Given the description of an element on the screen output the (x, y) to click on. 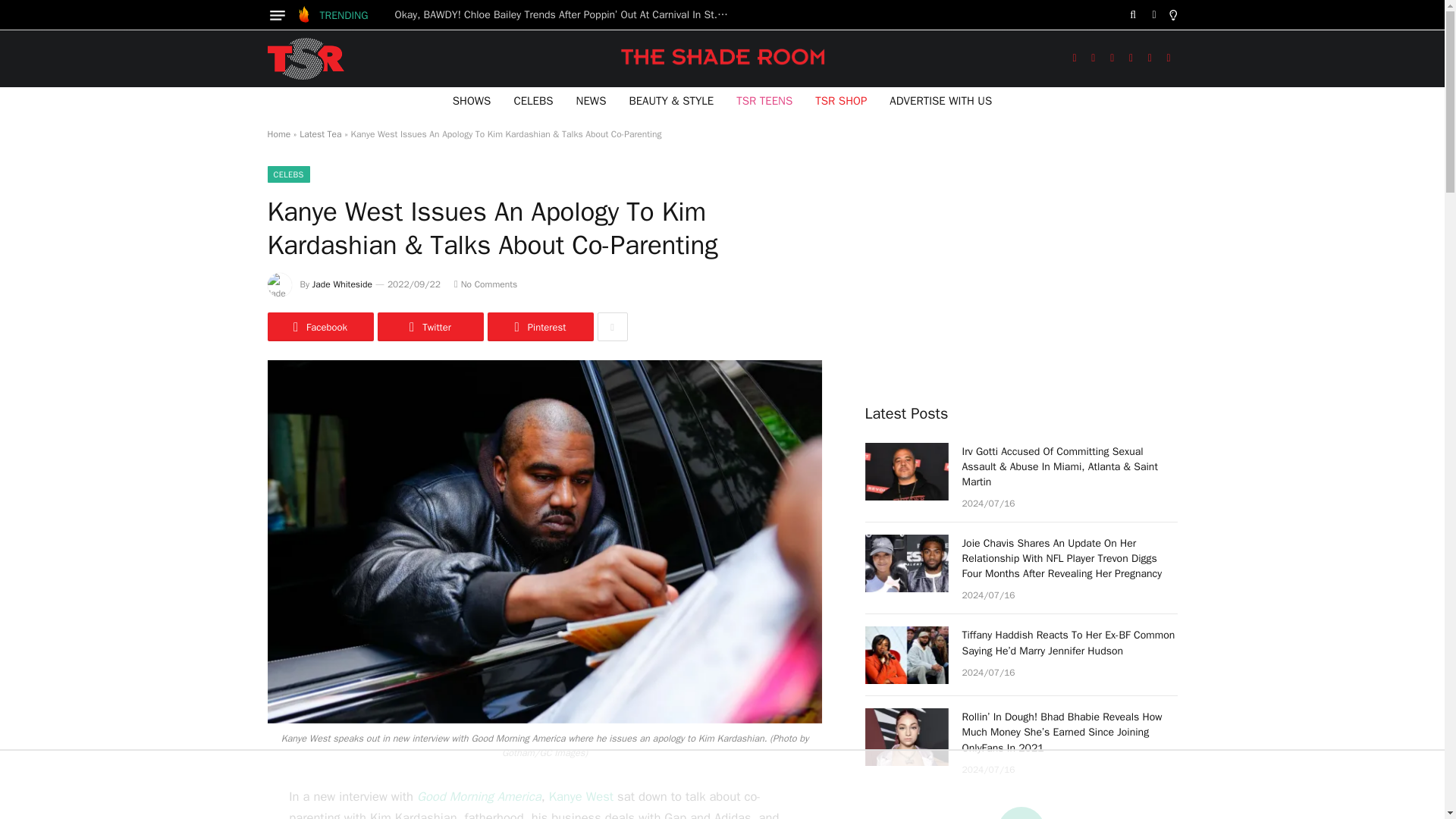
Switch to Dark Design - easier on eyes. (1153, 14)
Instagram (1112, 58)
Share on Pinterest (539, 326)
Posts by Jade Whiteside (342, 284)
Show More Social Sharing (611, 326)
The Shade Room (304, 58)
Snapchat (1168, 58)
TikTok (1149, 58)
Search (1132, 14)
YouTube (1131, 58)
Facebook (1074, 58)
SHOWS (471, 99)
Share on Facebook (319, 326)
